Given the description of an element on the screen output the (x, y) to click on. 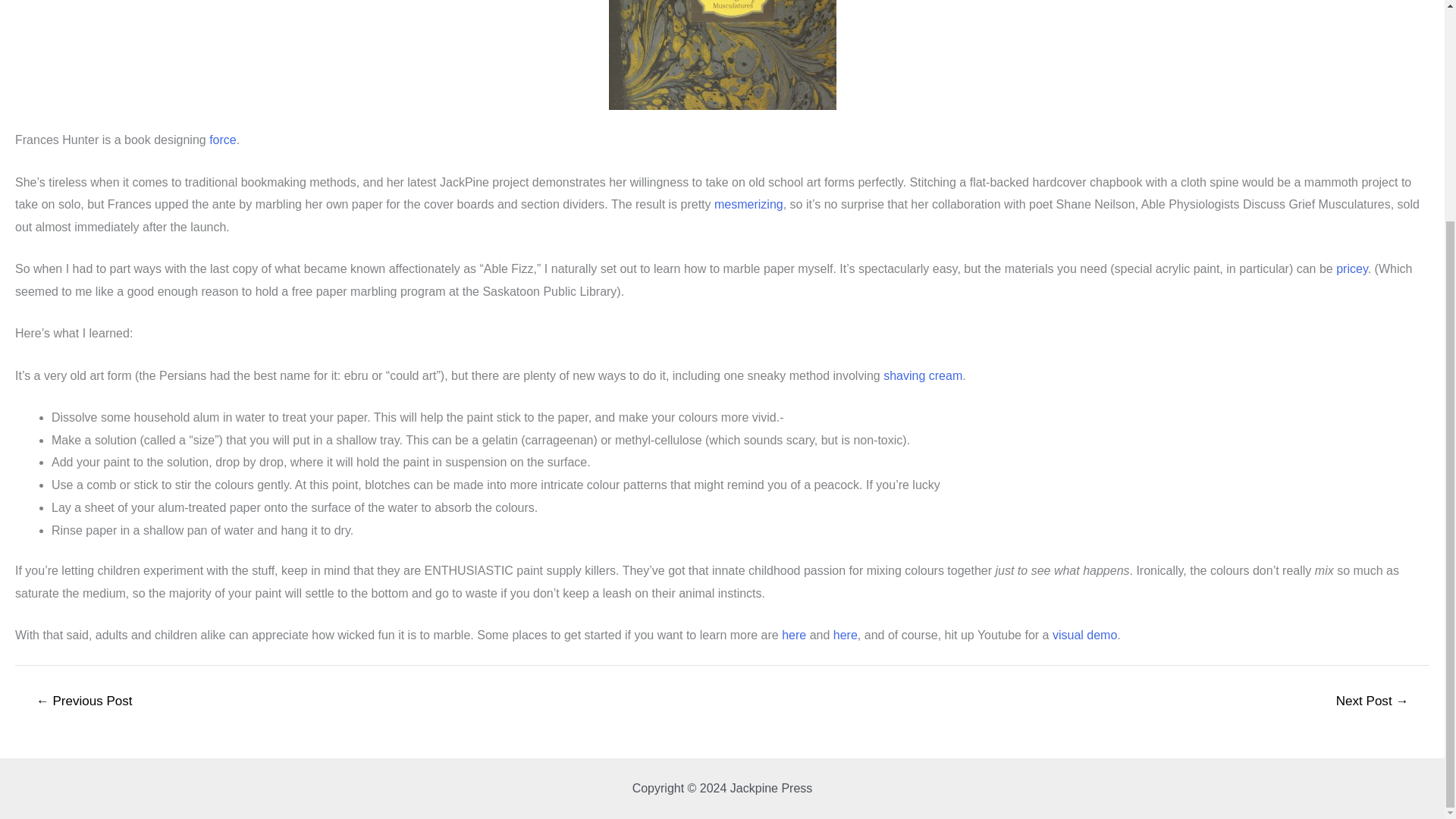
here (793, 634)
force (222, 139)
visual demo (1084, 634)
pricey (1352, 268)
shaving cream (922, 375)
mesmerizing (748, 204)
here (844, 634)
